Given the description of an element on the screen output the (x, y) to click on. 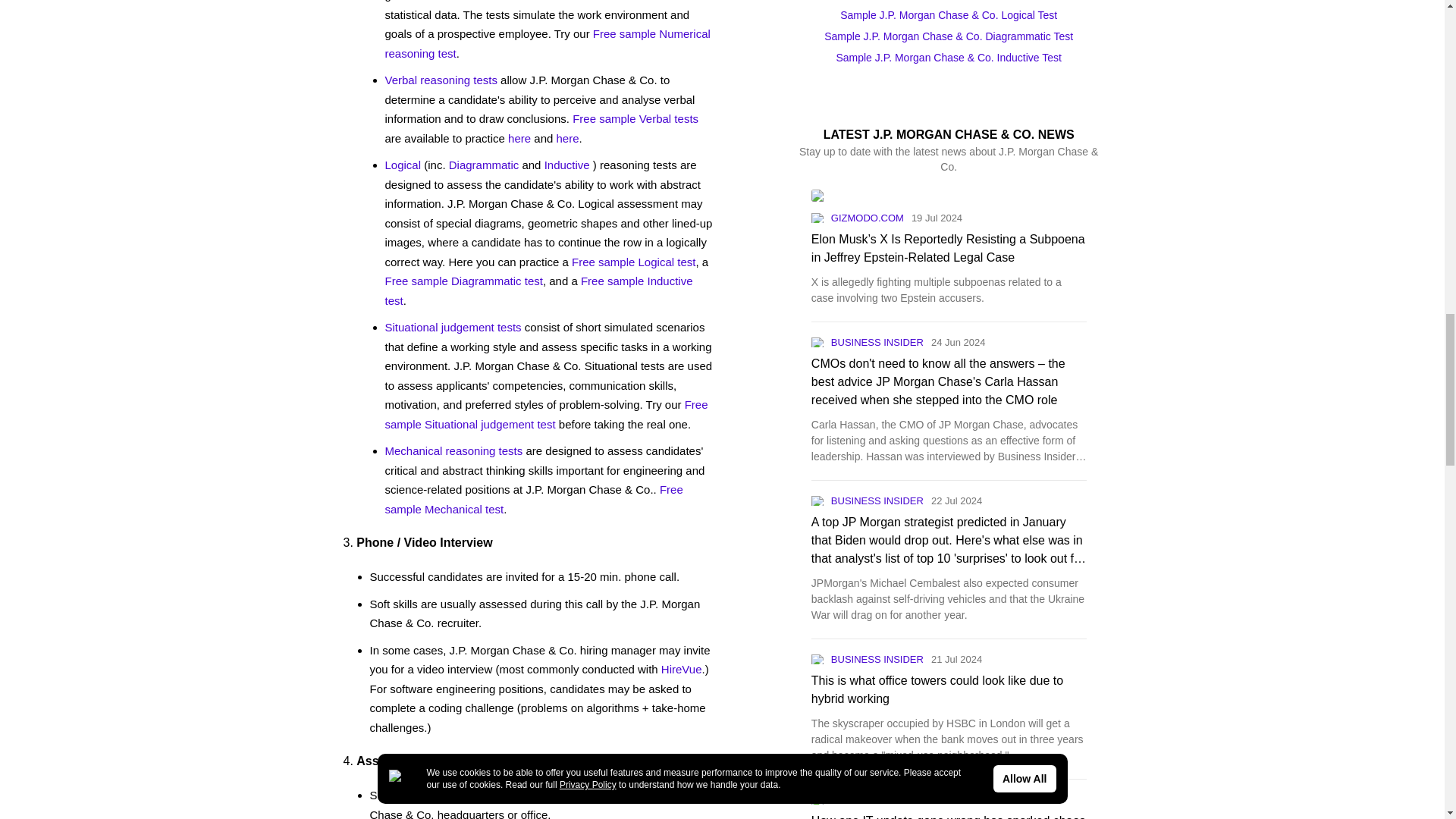
Free sample Numerical reasoning test (547, 43)
